Given the description of an element on the screen output the (x, y) to click on. 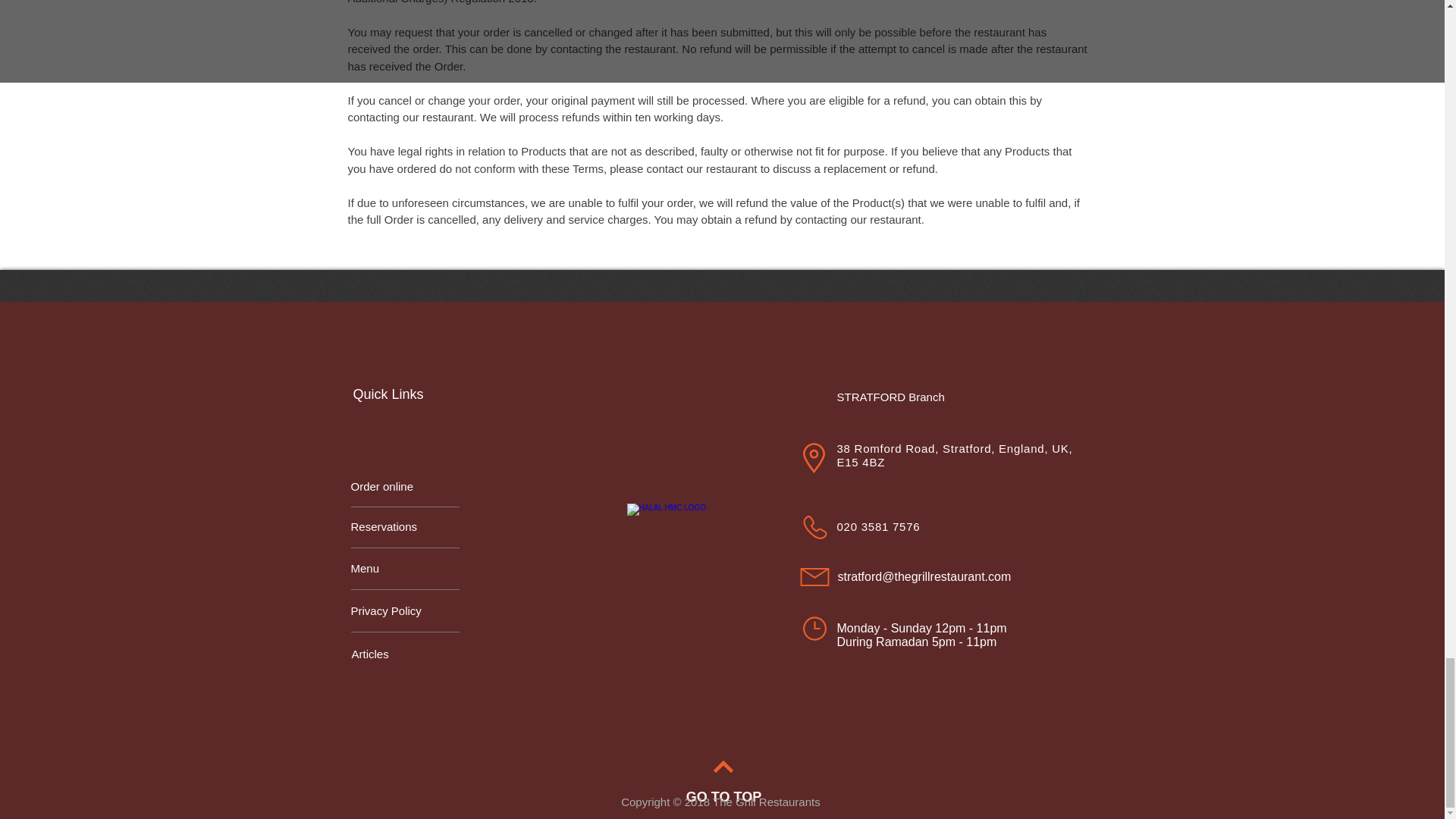
Privacy Policy (404, 611)
Order online (404, 486)
STRATFORD Branch (897, 395)
020 3581 7576 (878, 526)
38 Romford Road, Stratford, England, UK, E15 4BZ (955, 454)
Reservations (404, 526)
Menu (404, 568)
Articles (406, 653)
HALAL HMC LOGO (671, 547)
